Given the description of an element on the screen output the (x, y) to click on. 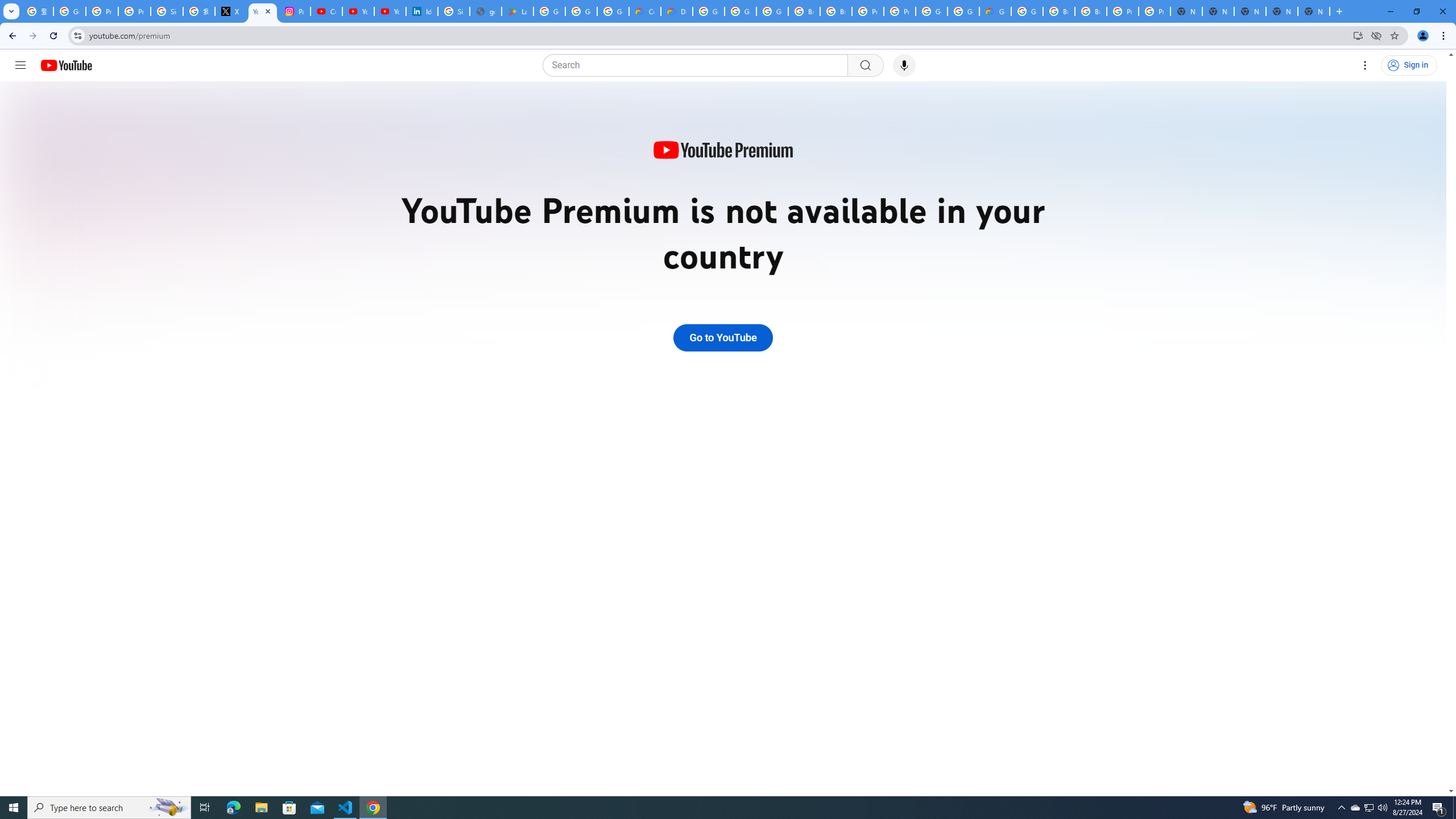
Privacy Help Center - Policies Help (134, 11)
YouTube Culture & Trends - YouTube Top 10, 2021 (389, 11)
Install YouTube (1358, 35)
